Given the description of an element on the screen output the (x, y) to click on. 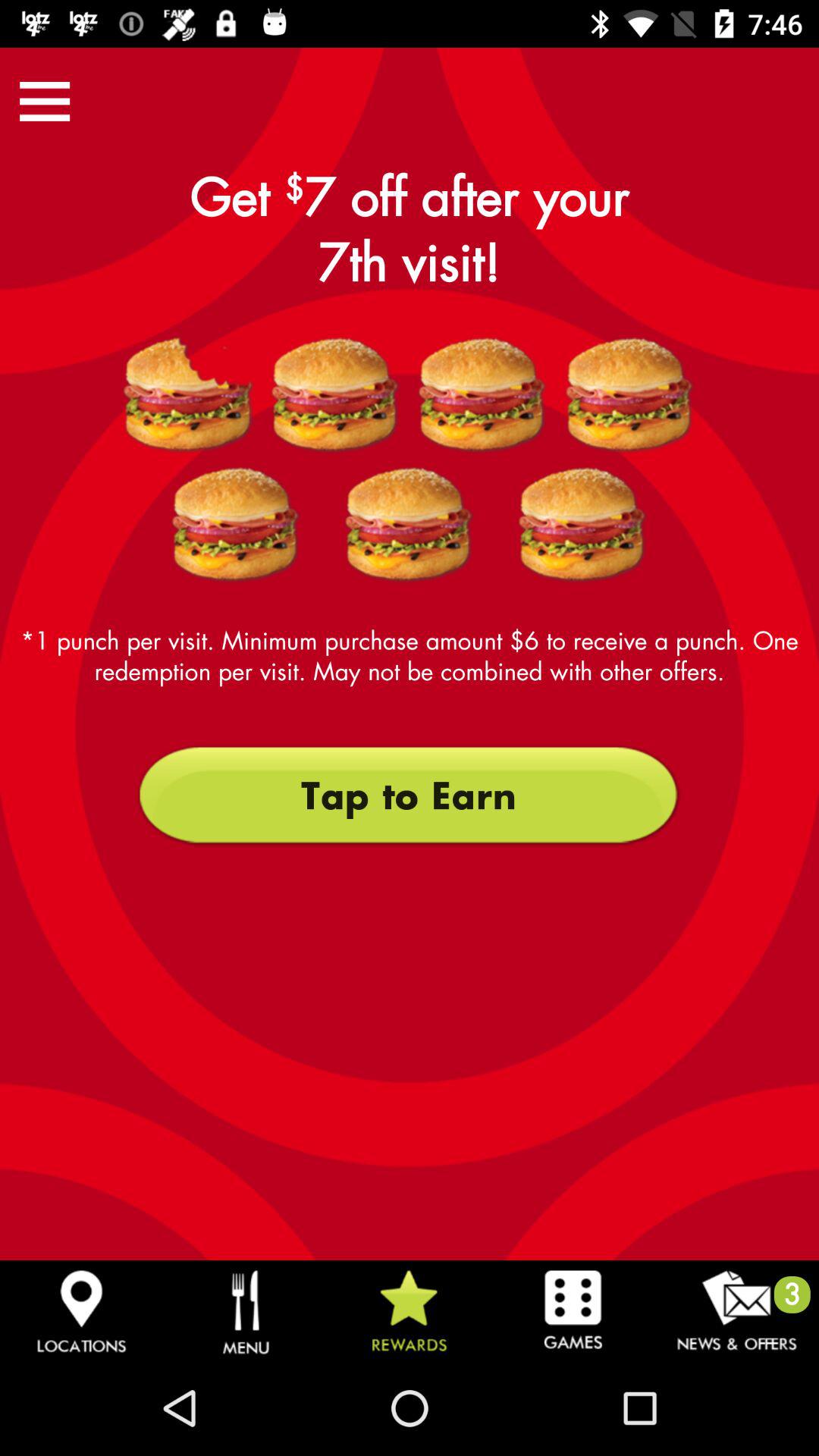
swipe to the tap to earn (408, 795)
